Given the description of an element on the screen output the (x, y) to click on. 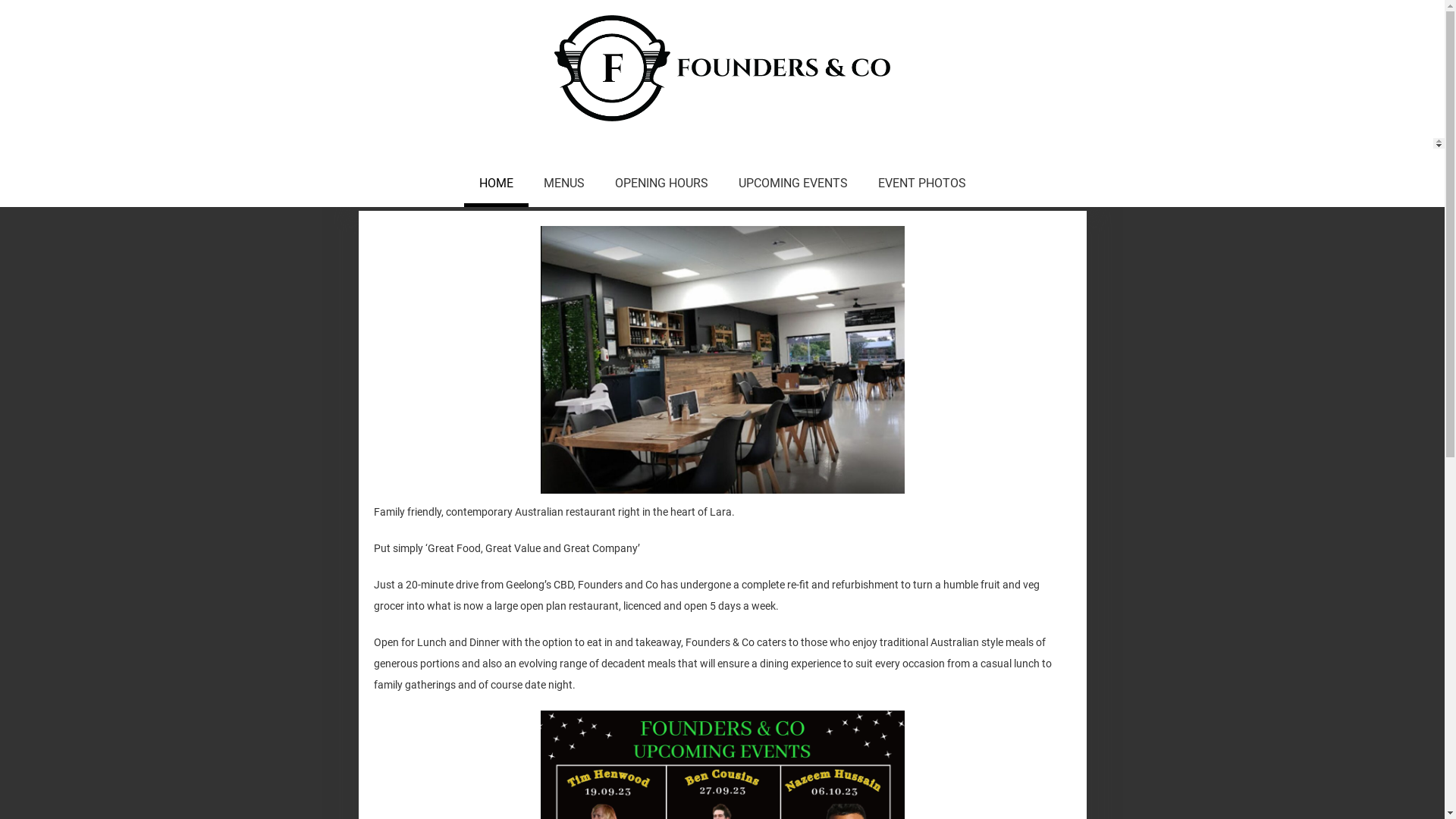
HOME Element type: text (496, 185)
EVENT PHOTOS Element type: text (921, 185)
OPENING HOURS Element type: text (660, 185)
MENUS Element type: text (563, 185)
UPCOMING EVENTS Element type: text (792, 185)
